Given the description of an element on the screen output the (x, y) to click on. 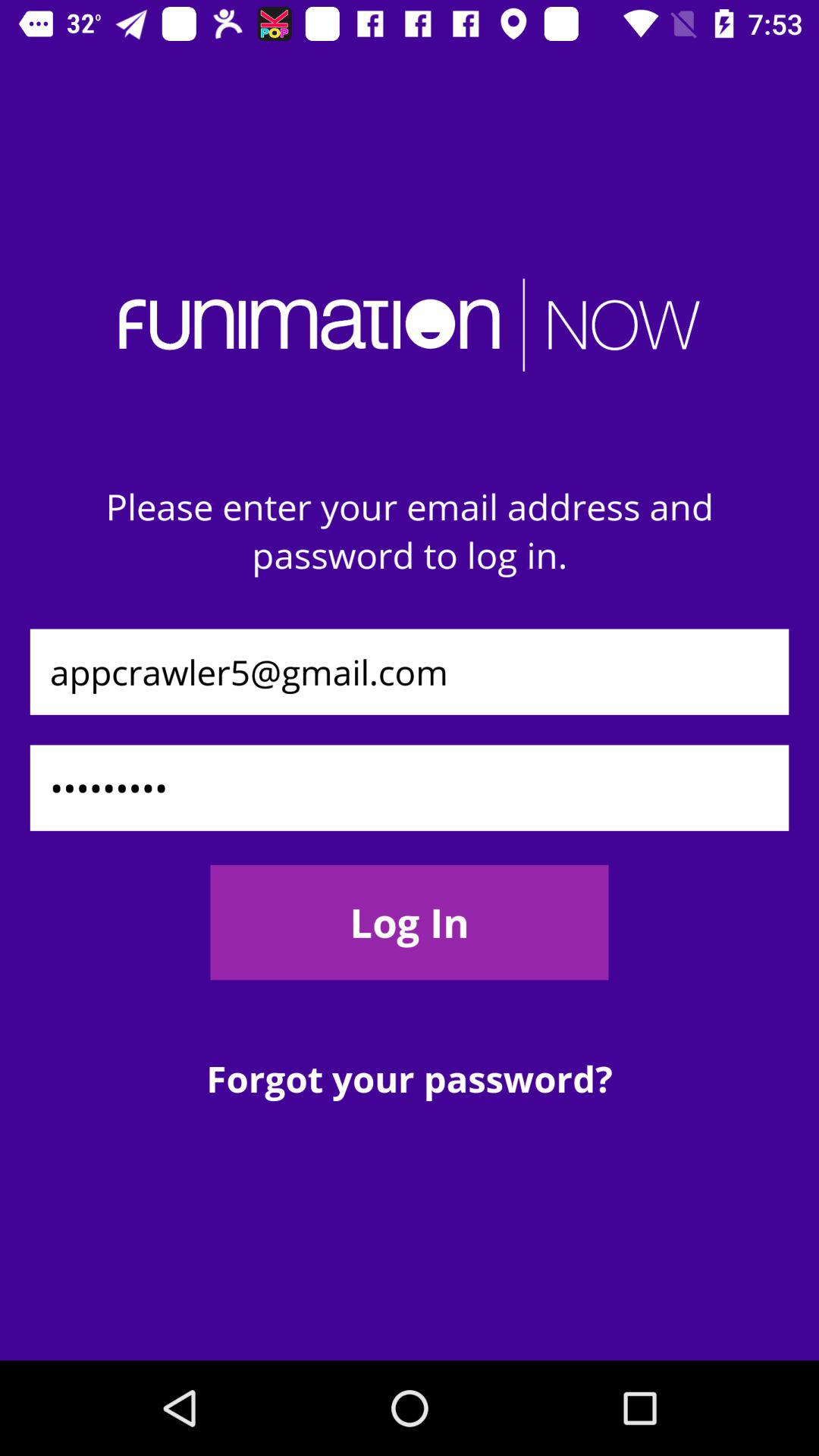
turn off the crowd3116 icon (409, 787)
